Given the description of an element on the screen output the (x, y) to click on. 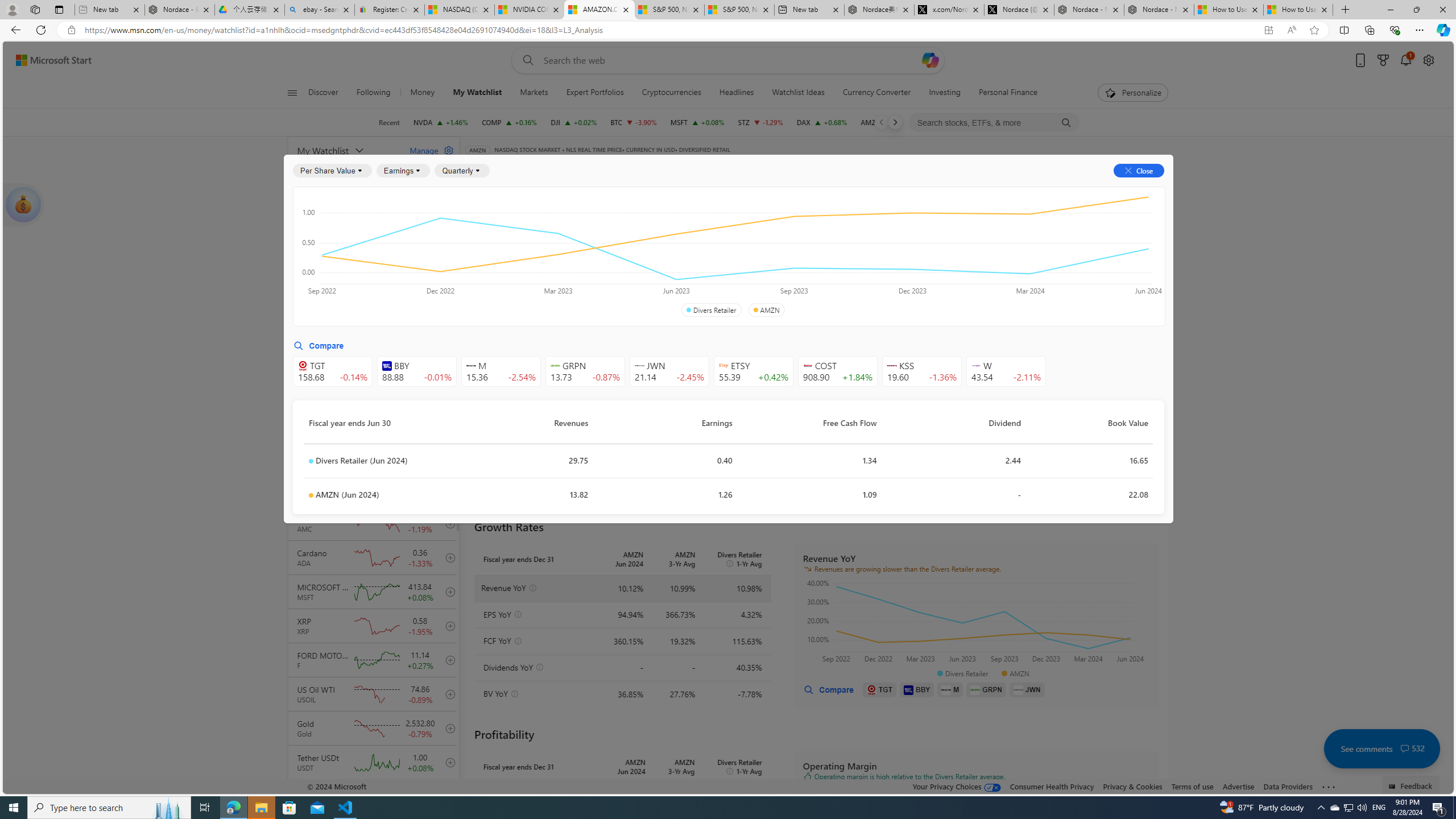
View site information (70, 29)
NVDA NVIDIA CORPORATION increase 128.30 +1.84 +1.46% (441, 122)
Compare (827, 689)
Back (13, 29)
remove from your watchlist (447, 283)
Watchlist (654, 166)
Terms of use (1192, 786)
Consumer Health Privacy (1051, 786)
Advertise (1238, 785)
JWN (1027, 689)
Efficiency (850, 253)
Personal Profile (12, 9)
x.com/NordaceOfficial (949, 9)
